Given the description of an element on the screen output the (x, y) to click on. 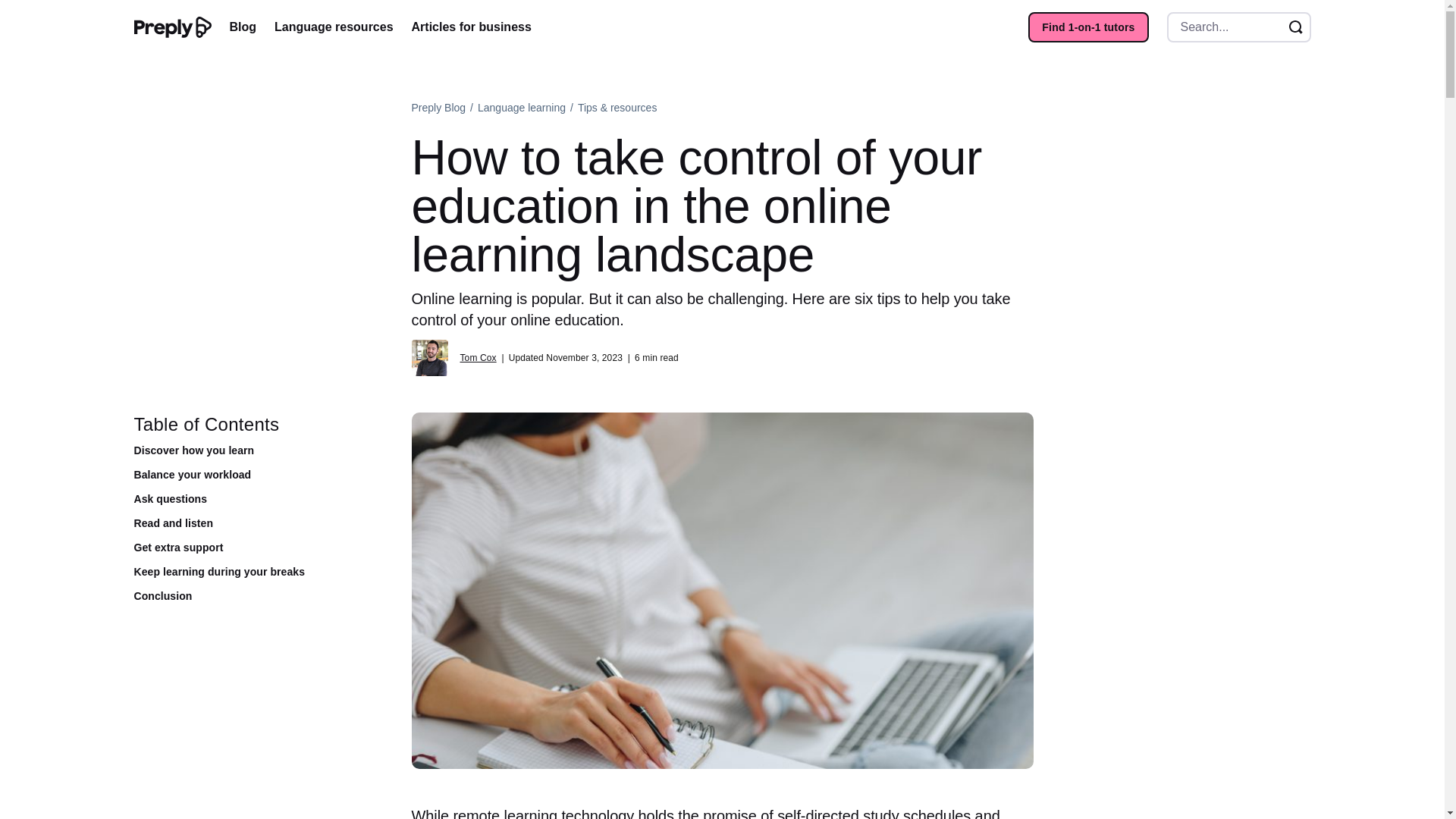
Language resources (334, 27)
Articles for business (471, 27)
Blog (242, 27)
Find 1-on-1 tutors (1087, 27)
